Given the description of an element on the screen output the (x, y) to click on. 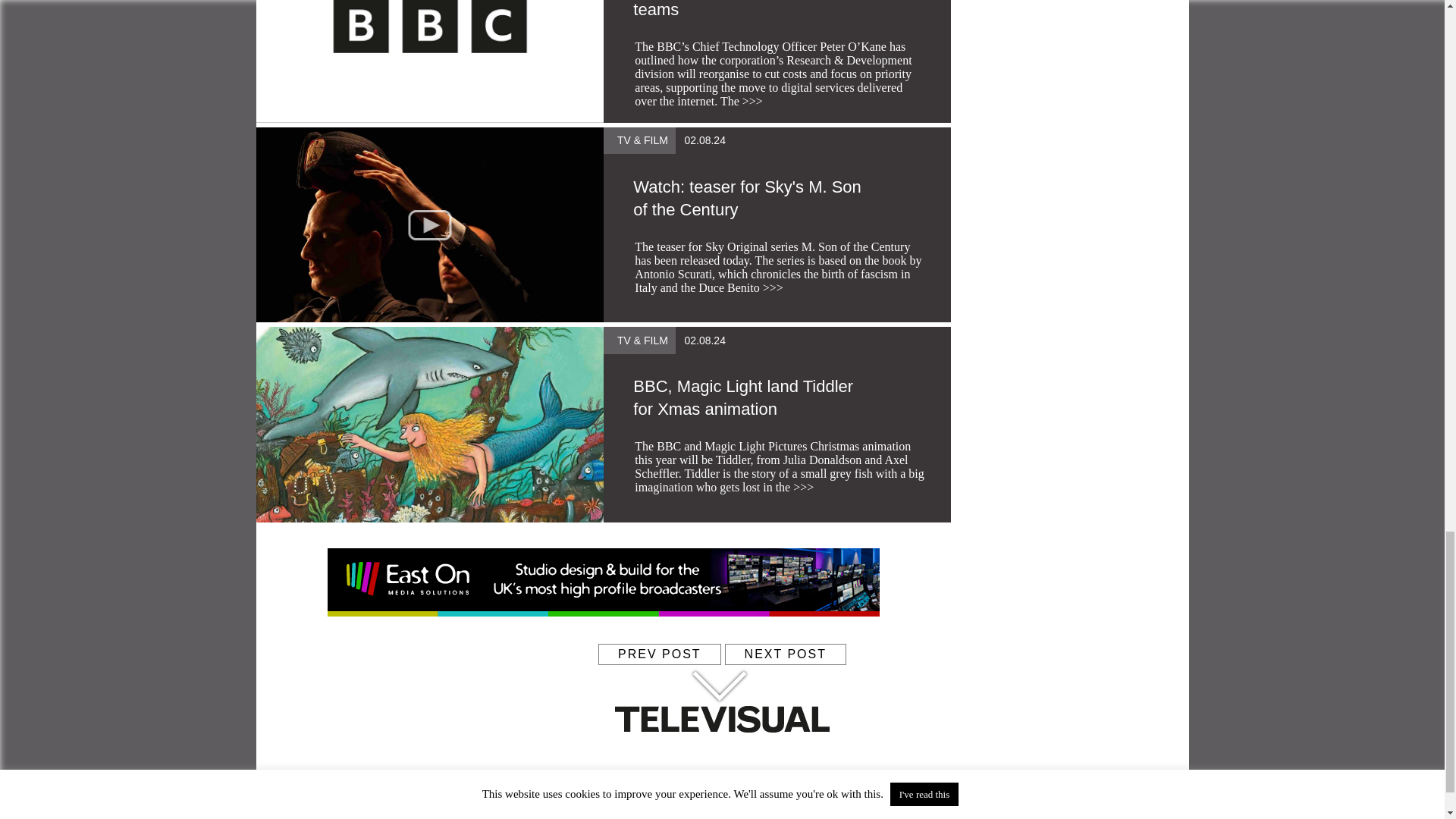
televisual-logo (721, 673)
